Given the description of an element on the screen output the (x, y) to click on. 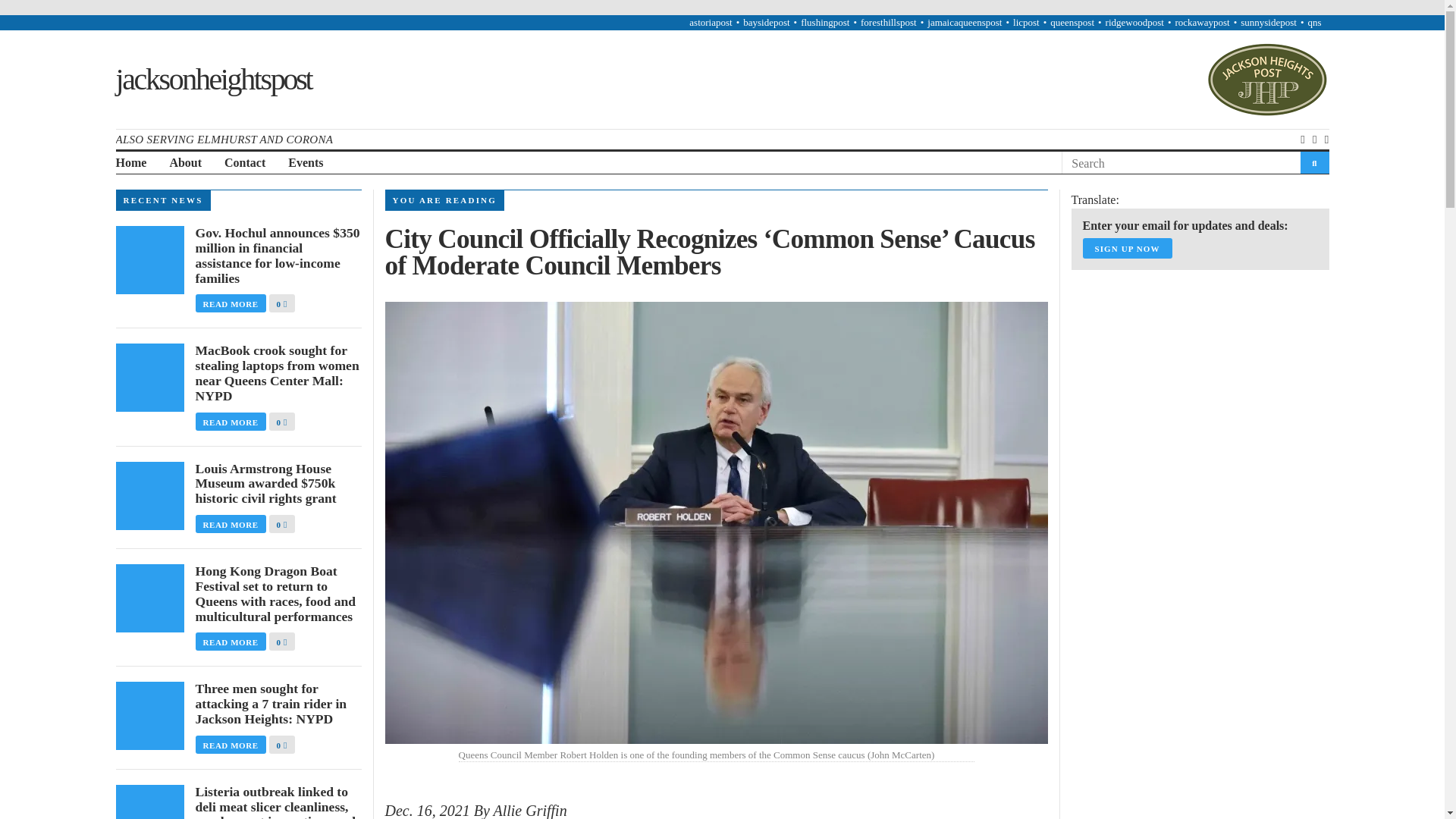
baysidepost (765, 21)
Home (131, 163)
rockawaypost (1201, 21)
astoriapost (710, 21)
Events (305, 163)
sunnysidepost (1268, 21)
flushingpost (824, 21)
Contact (244, 163)
jamaicaqueenspost (964, 21)
About (185, 163)
